Given the description of an element on the screen output the (x, y) to click on. 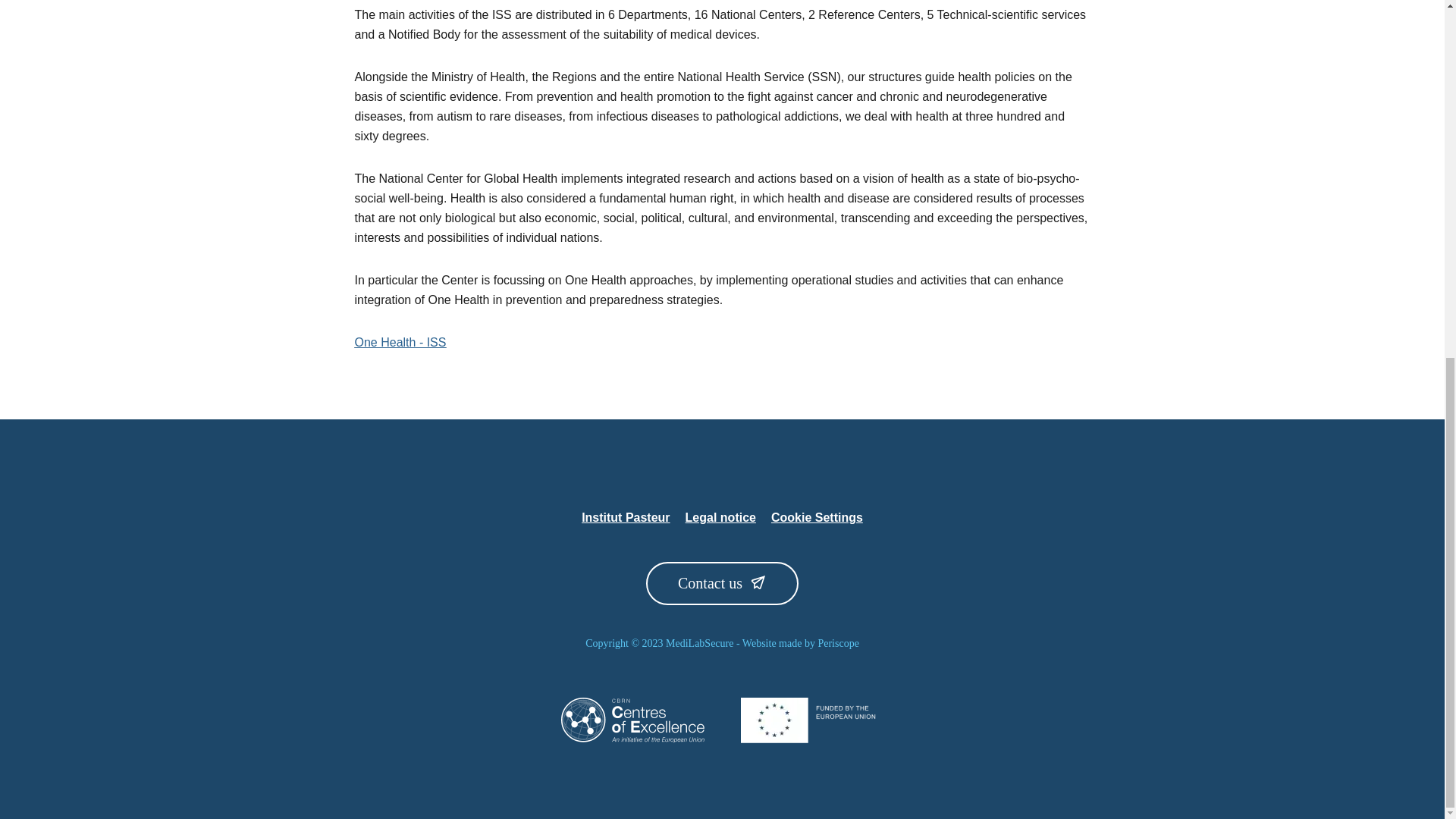
One Health - ISS (400, 341)
Image (632, 719)
Institut Pasteur (624, 517)
Image (811, 719)
Contact us (721, 583)
Legal notice (720, 517)
Cookie Settings (817, 517)
